Given the description of an element on the screen output the (x, y) to click on. 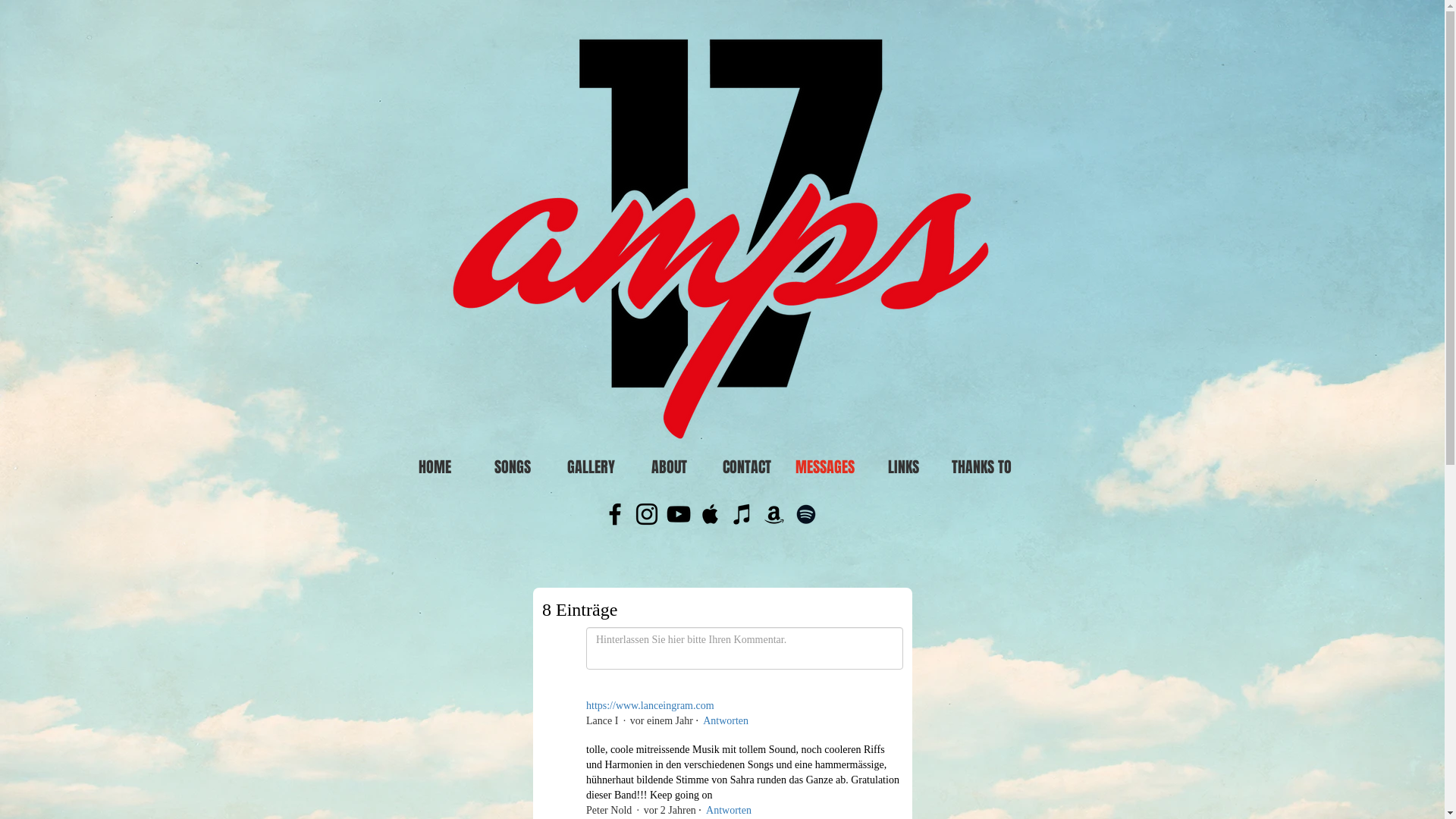
HOME Element type: text (434, 466)
THANKS TO Element type: text (980, 466)
SONGS Element type: text (512, 466)
MESSAGES Element type: text (824, 466)
GALLERY Element type: text (591, 466)
CONTACT Element type: text (747, 466)
LINKS Element type: text (903, 466)
ABOUT Element type: text (668, 466)
